Given the description of an element on the screen output the (x, y) to click on. 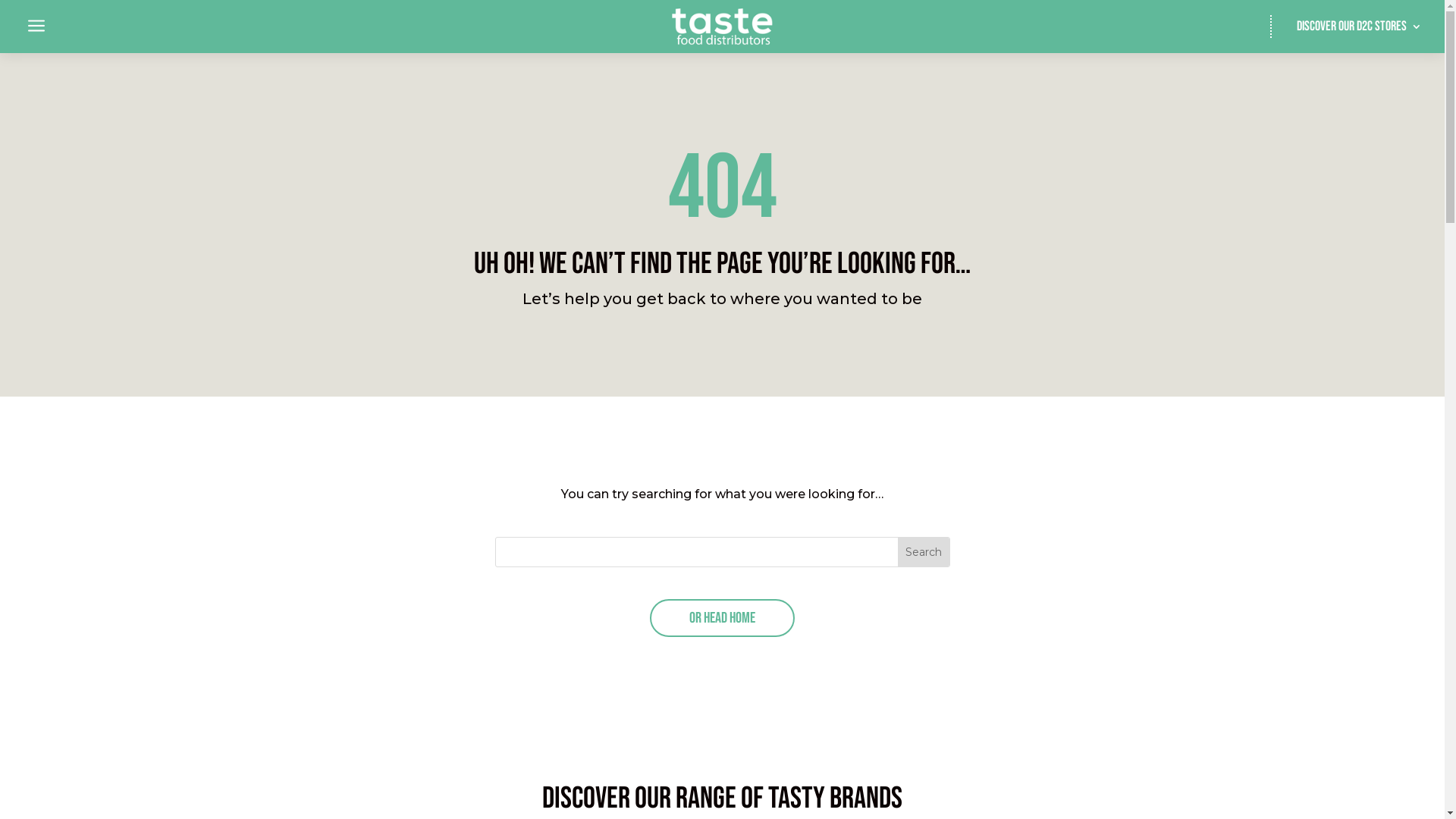
Search Element type: text (25, 14)
Search Element type: text (923, 551)
OR HEAD HOME Element type: text (721, 618)
DISCOVER OUR D2C STORES Element type: text (1358, 29)
